Given the description of an element on the screen output the (x, y) to click on. 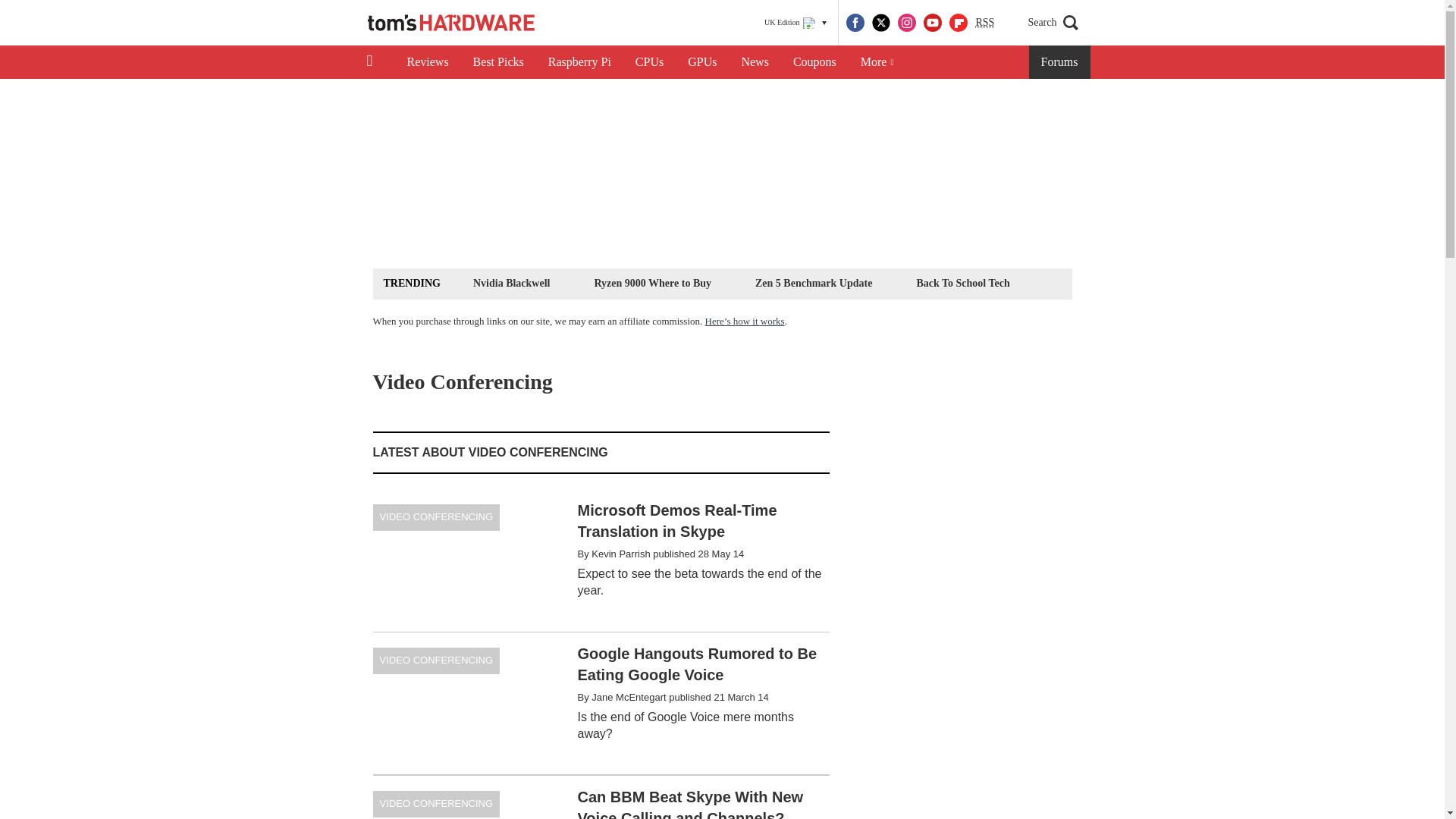
Nvidia Blackwell (511, 282)
News (754, 61)
Reviews (427, 61)
Coupons (814, 61)
Raspberry Pi (579, 61)
Best Picks (498, 61)
RSS (984, 22)
Forums (1059, 61)
GPUs (702, 61)
UK Edition (795, 22)
